Given the description of an element on the screen output the (x, y) to click on. 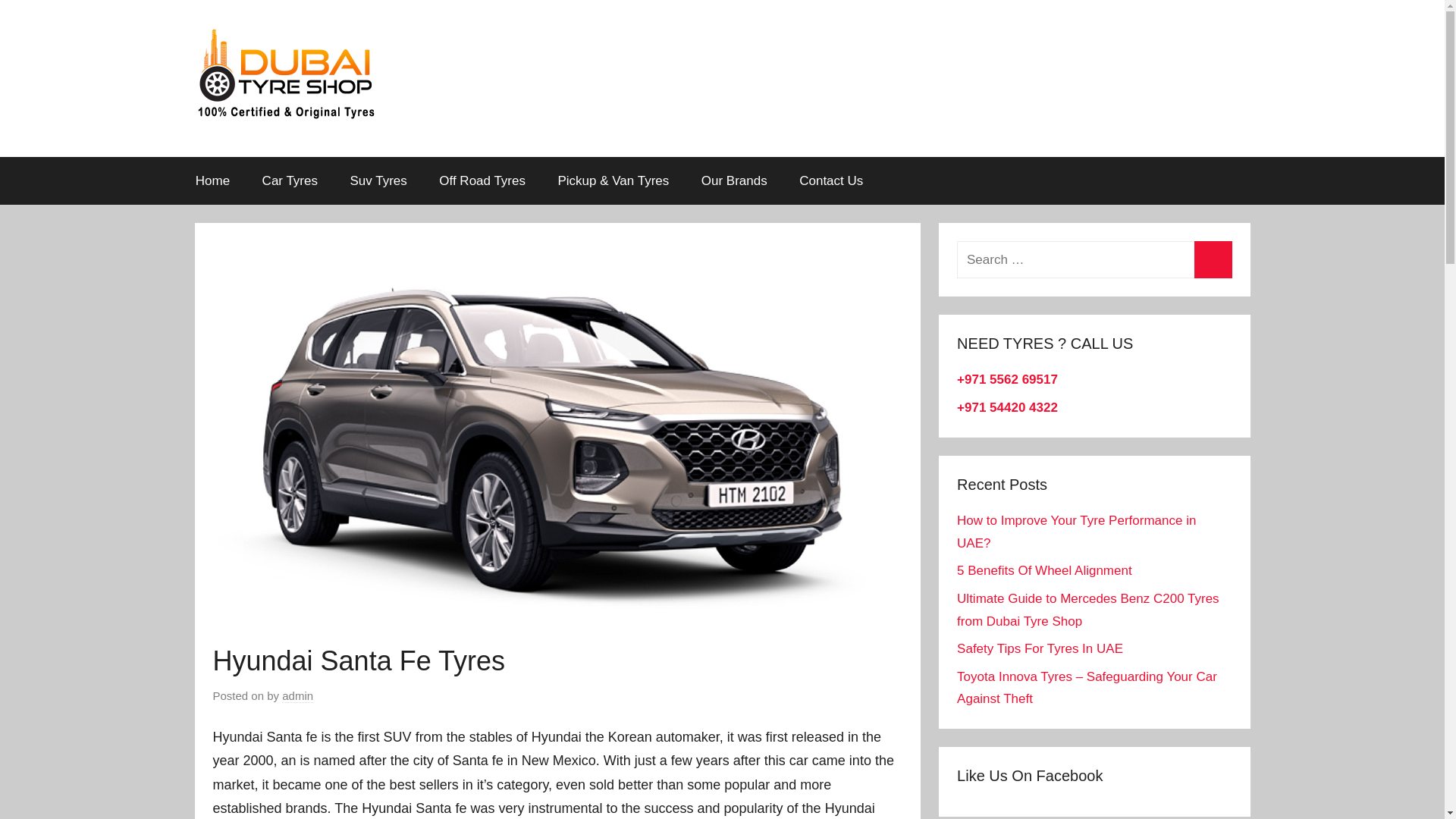
Home (212, 180)
Our Brands (734, 180)
Suv Tyres (378, 180)
5 Benefits Of Wheel Alignment (1044, 570)
Off Road Tyres (482, 180)
How to Improve Your Tyre Performance in UAE? (1075, 531)
Search for: (1093, 259)
View all posts by admin (297, 695)
Car Tyres (289, 180)
Contact Us (831, 180)
admin (297, 695)
Safety Tips For Tyres In UAE (1039, 648)
